Given the description of an element on the screen output the (x, y) to click on. 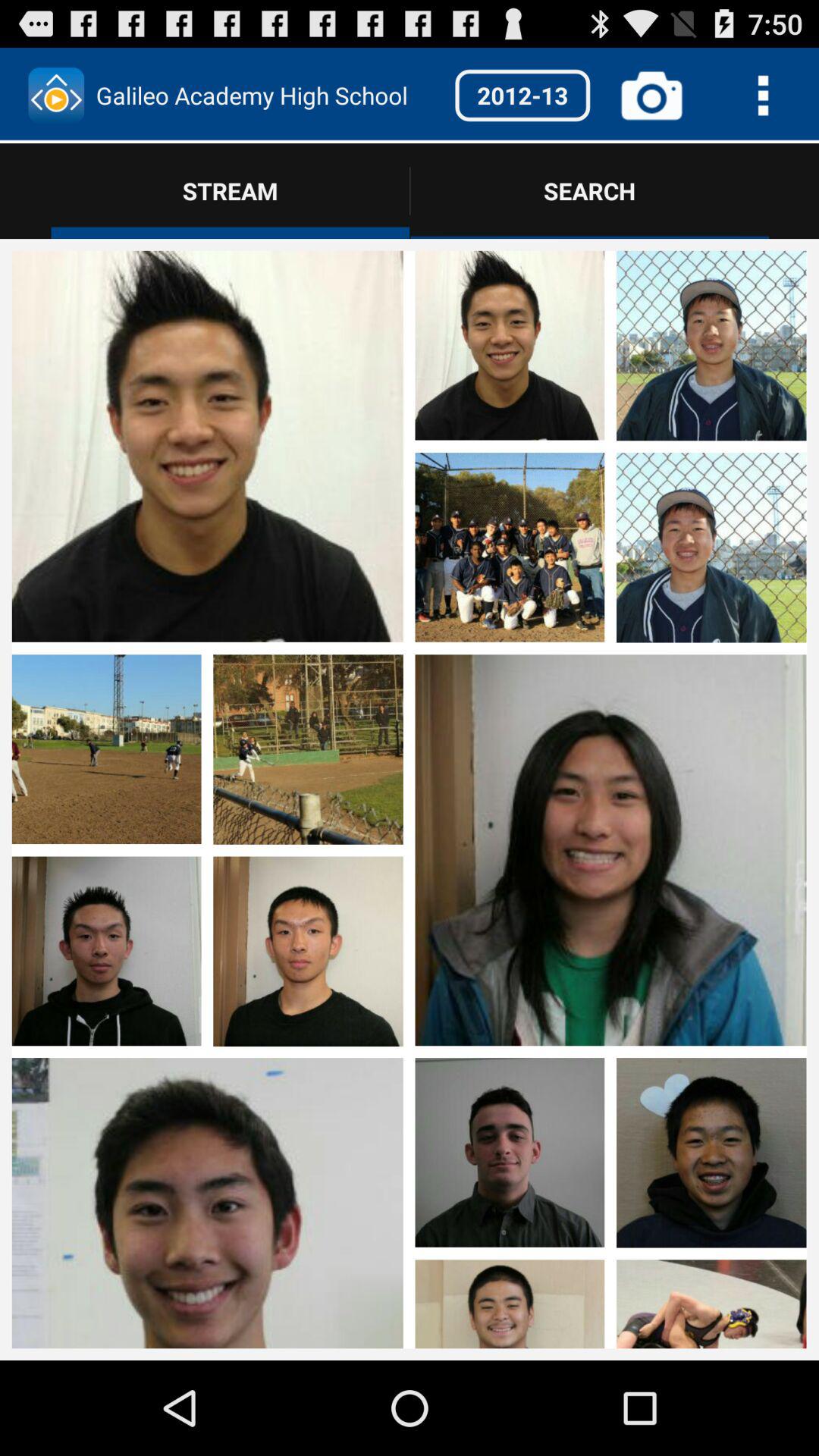
image area (509, 750)
